Given the description of an element on the screen output the (x, y) to click on. 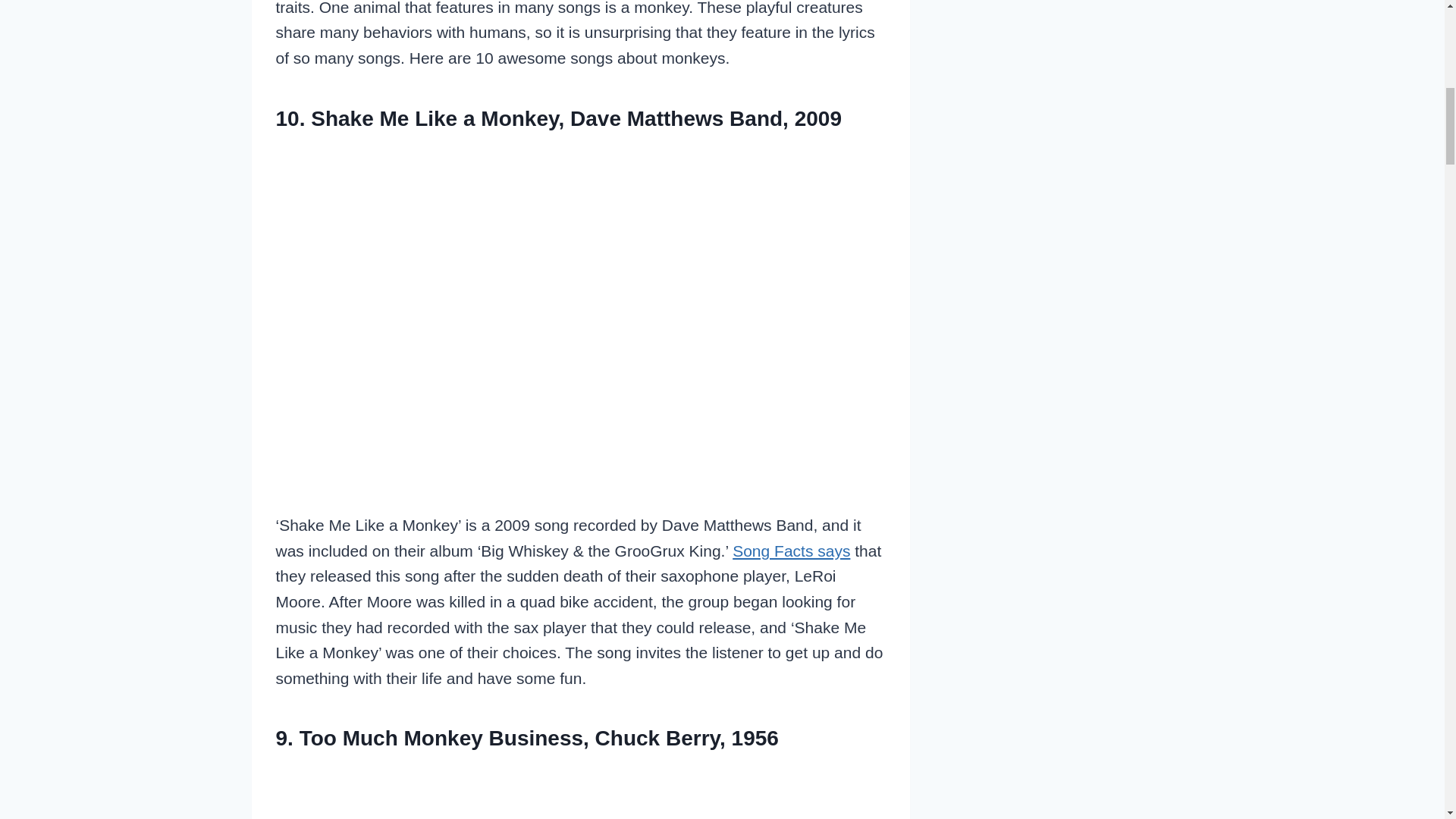
Song Facts says (791, 550)
Chuck Berry - Too Much Monkey Business (581, 791)
